Given the description of an element on the screen output the (x, y) to click on. 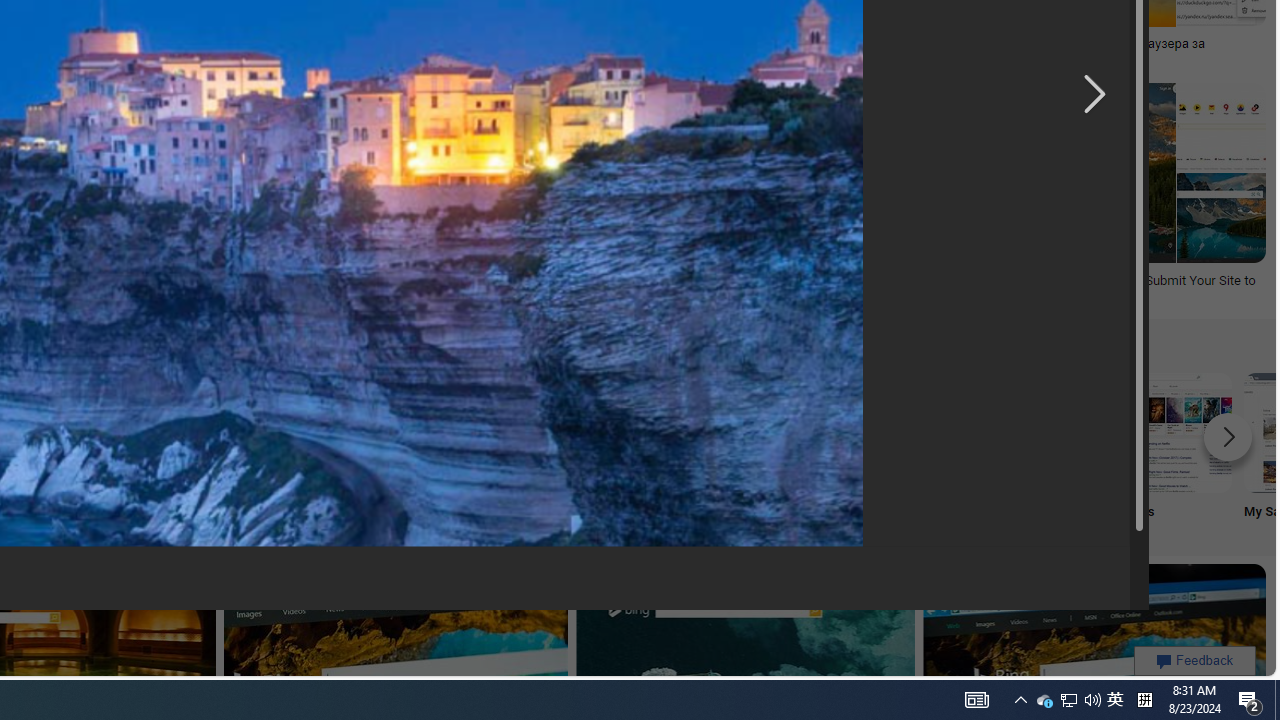
Bing Search Tricks Tricks (1039, 450)
Web Searching | Computer Applications for Managers (216, 287)
Bing Can Now Search for Any Object in an Image (710, 44)
Bar Install (380, 450)
